Given the description of an element on the screen output the (x, y) to click on. 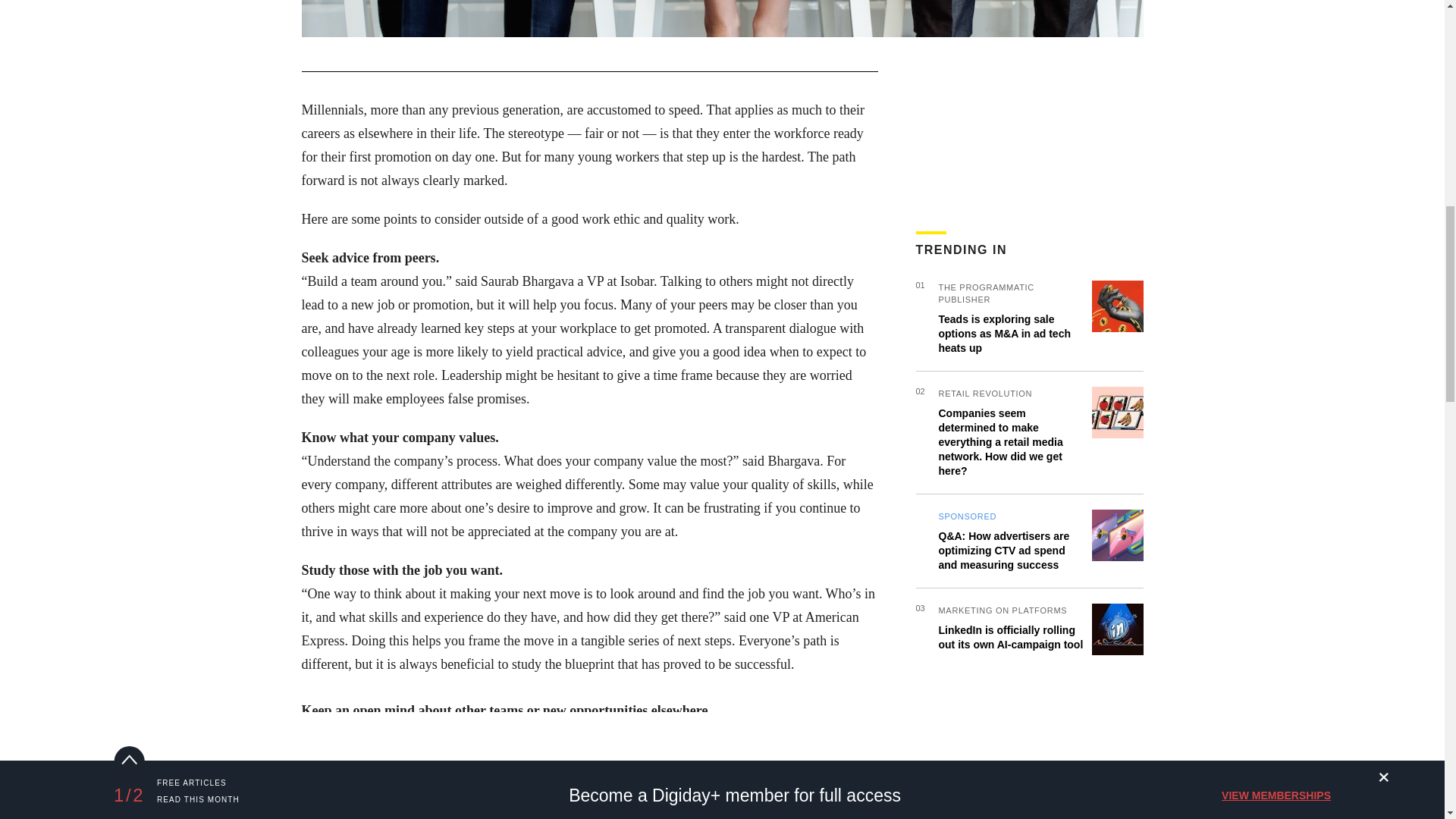
LinkedIn is officially rolling out its own AI-campaign tool (1011, 637)
